Given the description of an element on the screen output the (x, y) to click on. 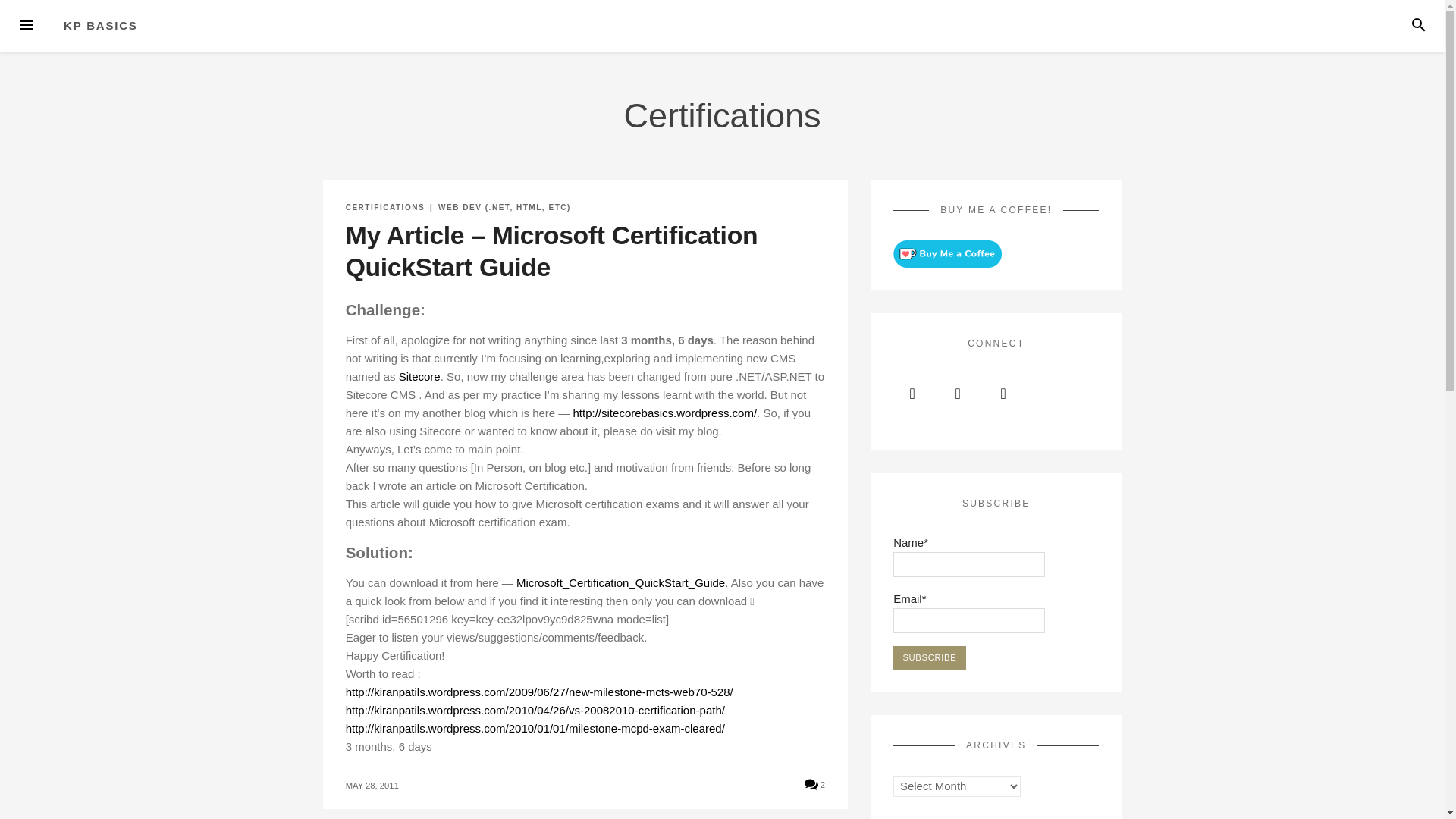
MENU (25, 25)
Sitecore (419, 376)
CERTIFICATIONS (385, 207)
SEARCH (1417, 25)
2 (815, 784)
Subscribe (929, 657)
KP BASICS (101, 24)
MAY 28, 2011 (372, 785)
